Given the description of an element on the screen output the (x, y) to click on. 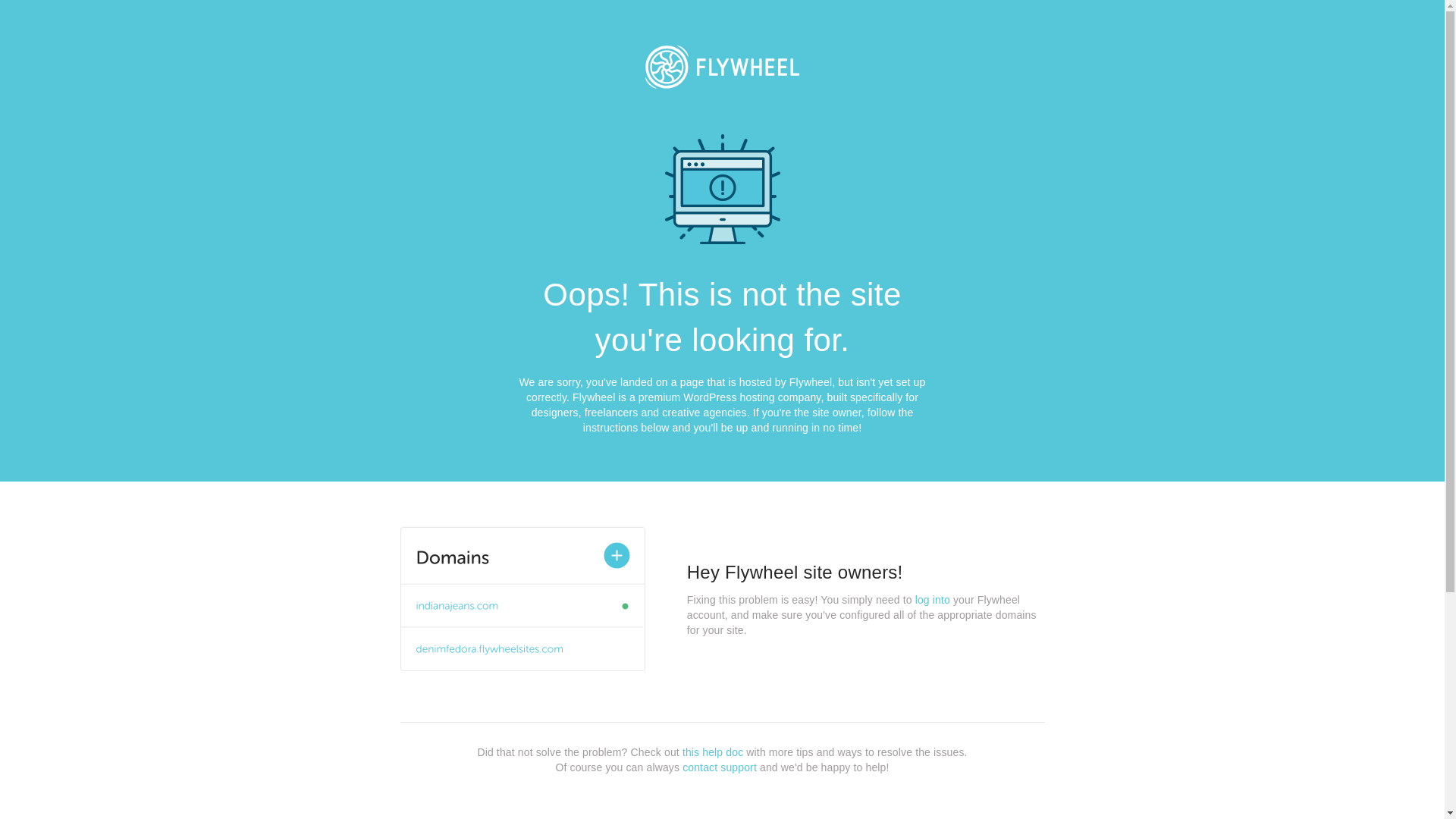
this help doc Element type: text (712, 752)
contact support Element type: text (719, 767)
log into Element type: text (932, 599)
